Given the description of an element on the screen output the (x, y) to click on. 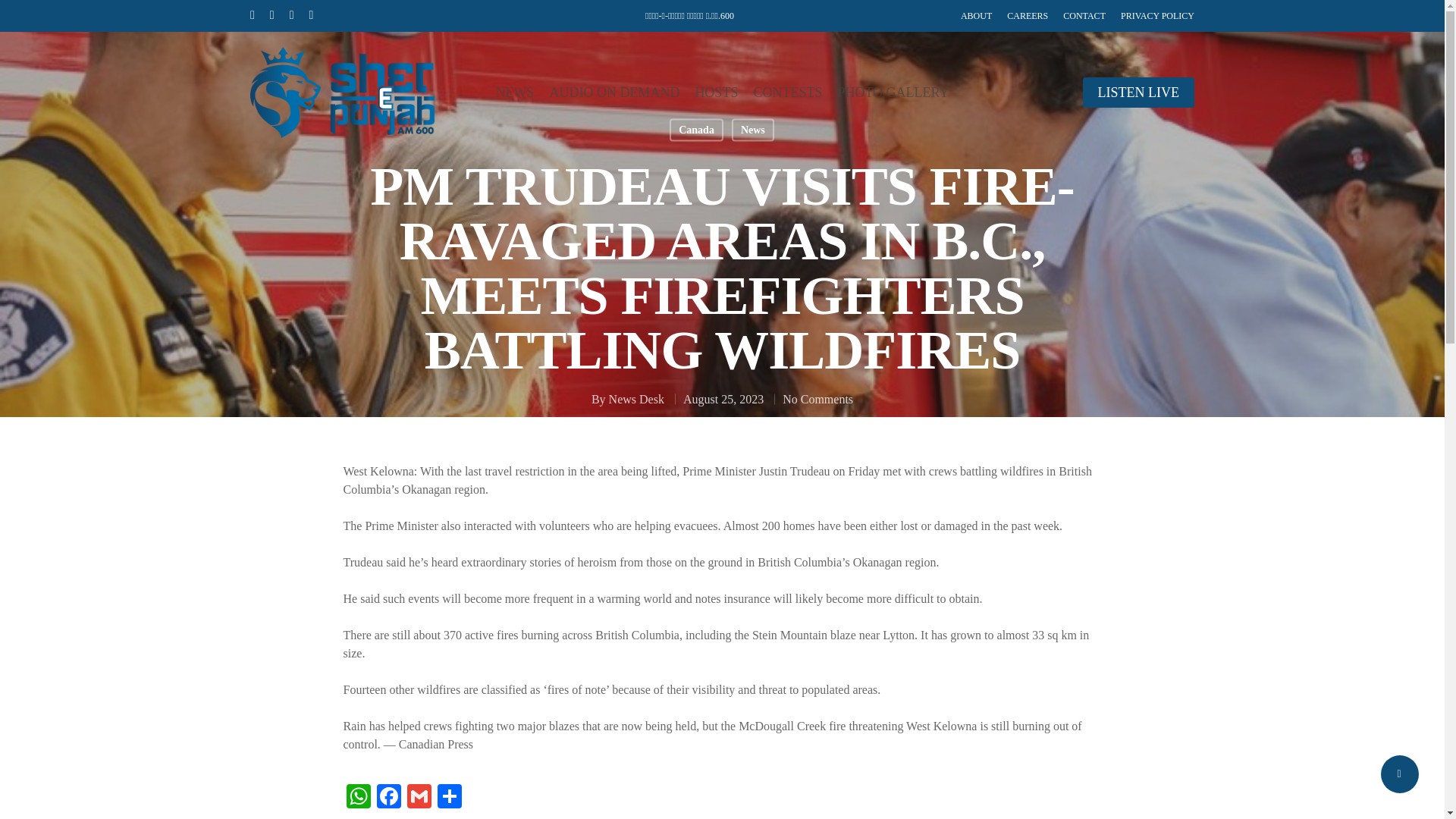
CONTACT (1083, 15)
Facebook (387, 797)
CAREERS (1027, 15)
Facebook (387, 797)
Share (448, 797)
AUDIO ON DEMAND (613, 92)
Gmail (418, 797)
Canada (696, 128)
WhatsApp (357, 797)
HOSTS (716, 92)
WhatsApp (357, 797)
News (753, 128)
ABOUT (975, 15)
News Desk (635, 399)
NEWS (514, 92)
